Given the description of an element on the screen output the (x, y) to click on. 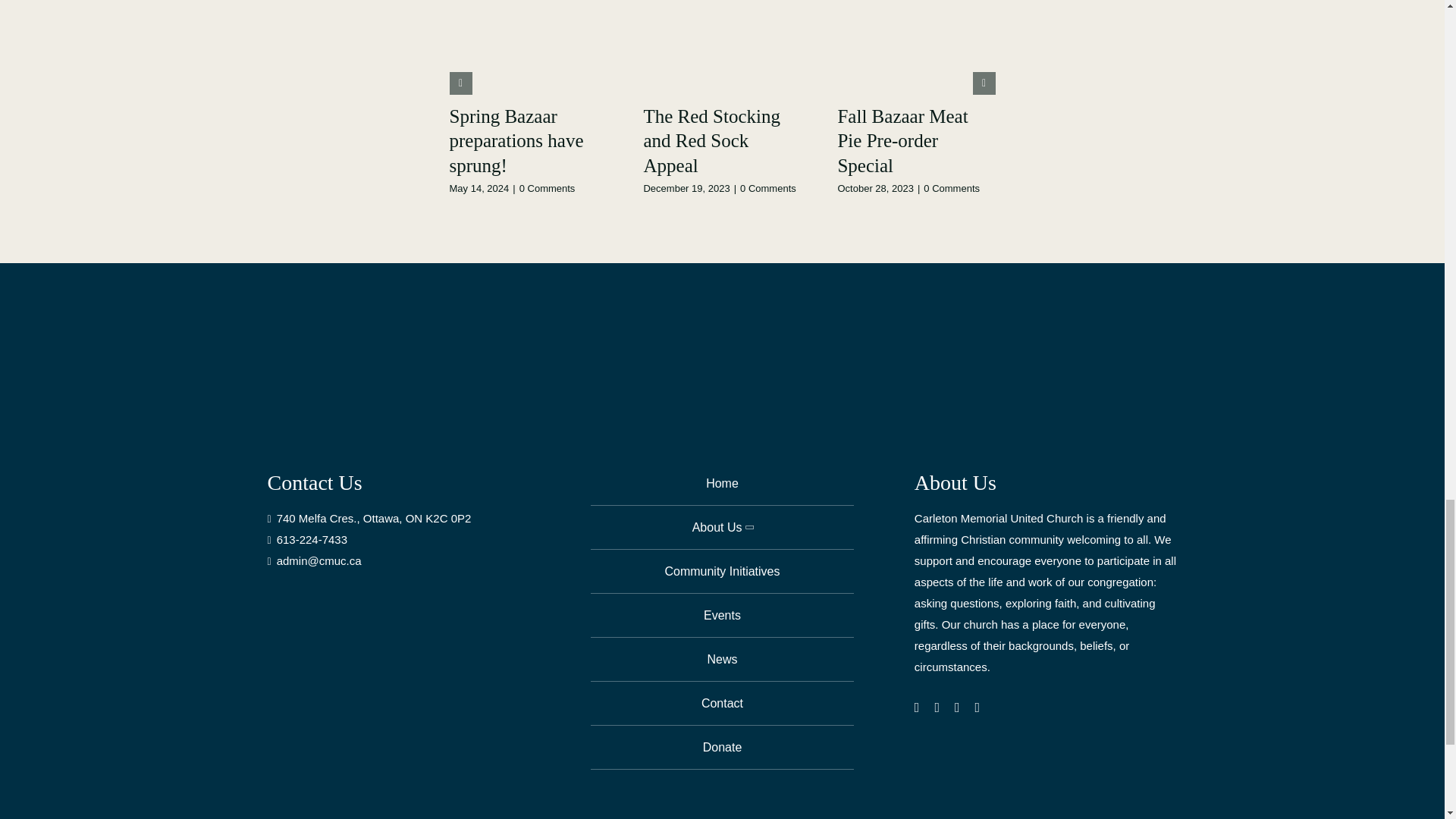
0 Comments (547, 188)
Spring Bazaar preparations have sprung! (515, 141)
Spring Bazaar preparations have sprung! (515, 141)
